Given the description of an element on the screen output the (x, y) to click on. 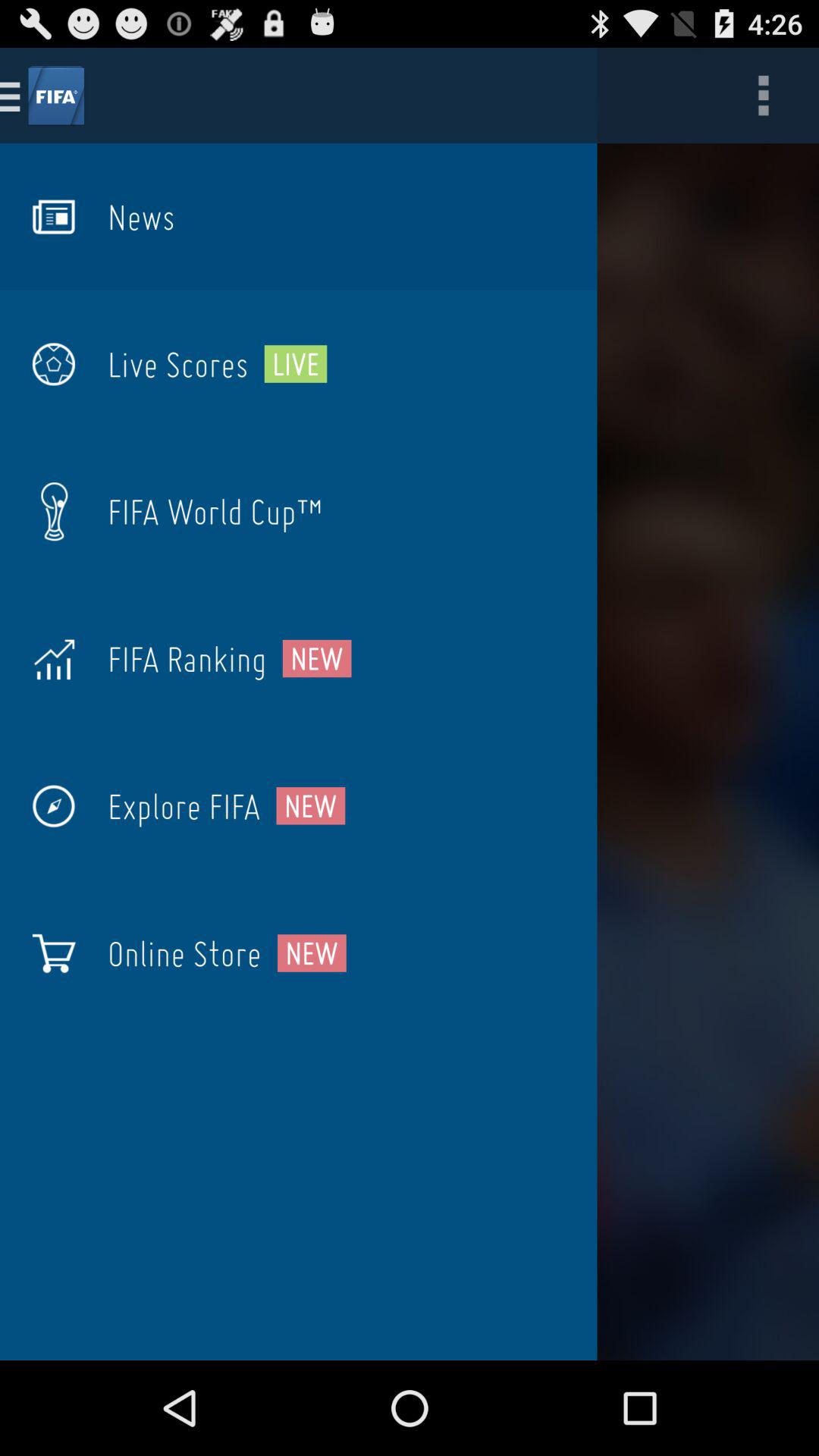
scroll until live scores item (177, 363)
